Given the description of an element on the screen output the (x, y) to click on. 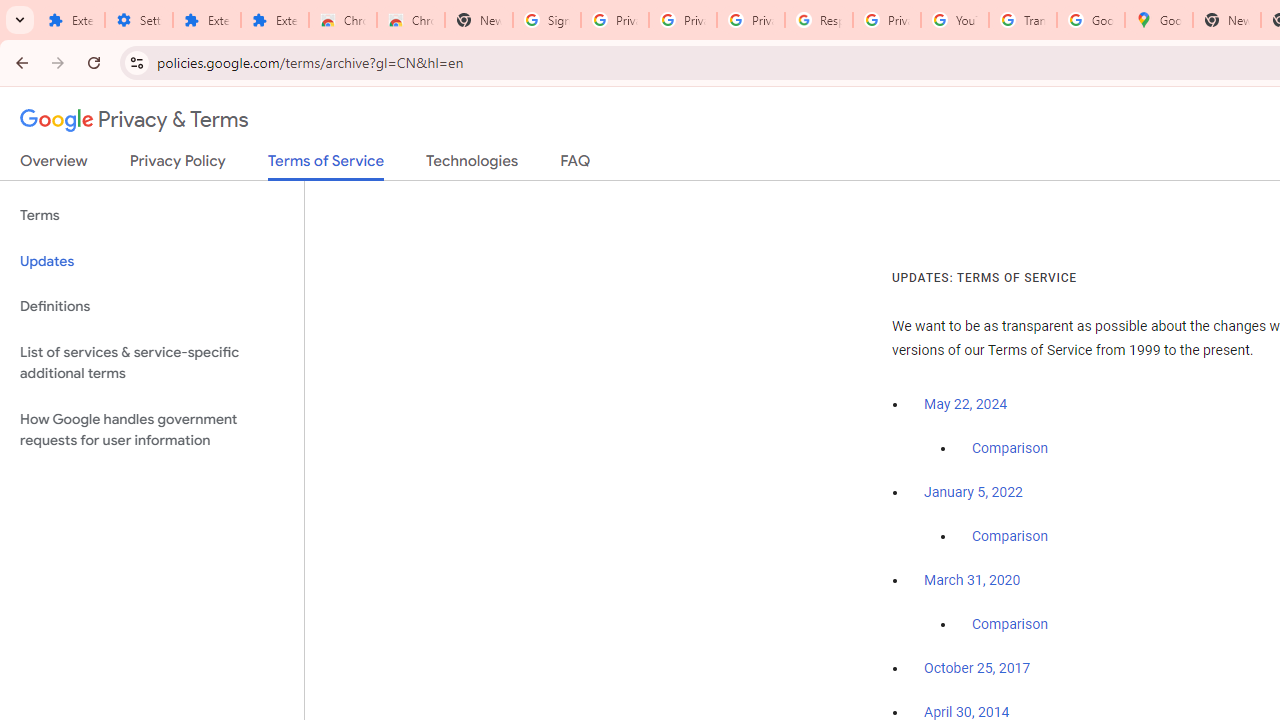
Google Maps (1158, 20)
Extensions (274, 20)
New Tab (479, 20)
Extensions (70, 20)
Sign in - Google Accounts (547, 20)
Extensions (206, 20)
January 5, 2022 (973, 492)
October 25, 2017 (977, 669)
